Given the description of an element on the screen output the (x, y) to click on. 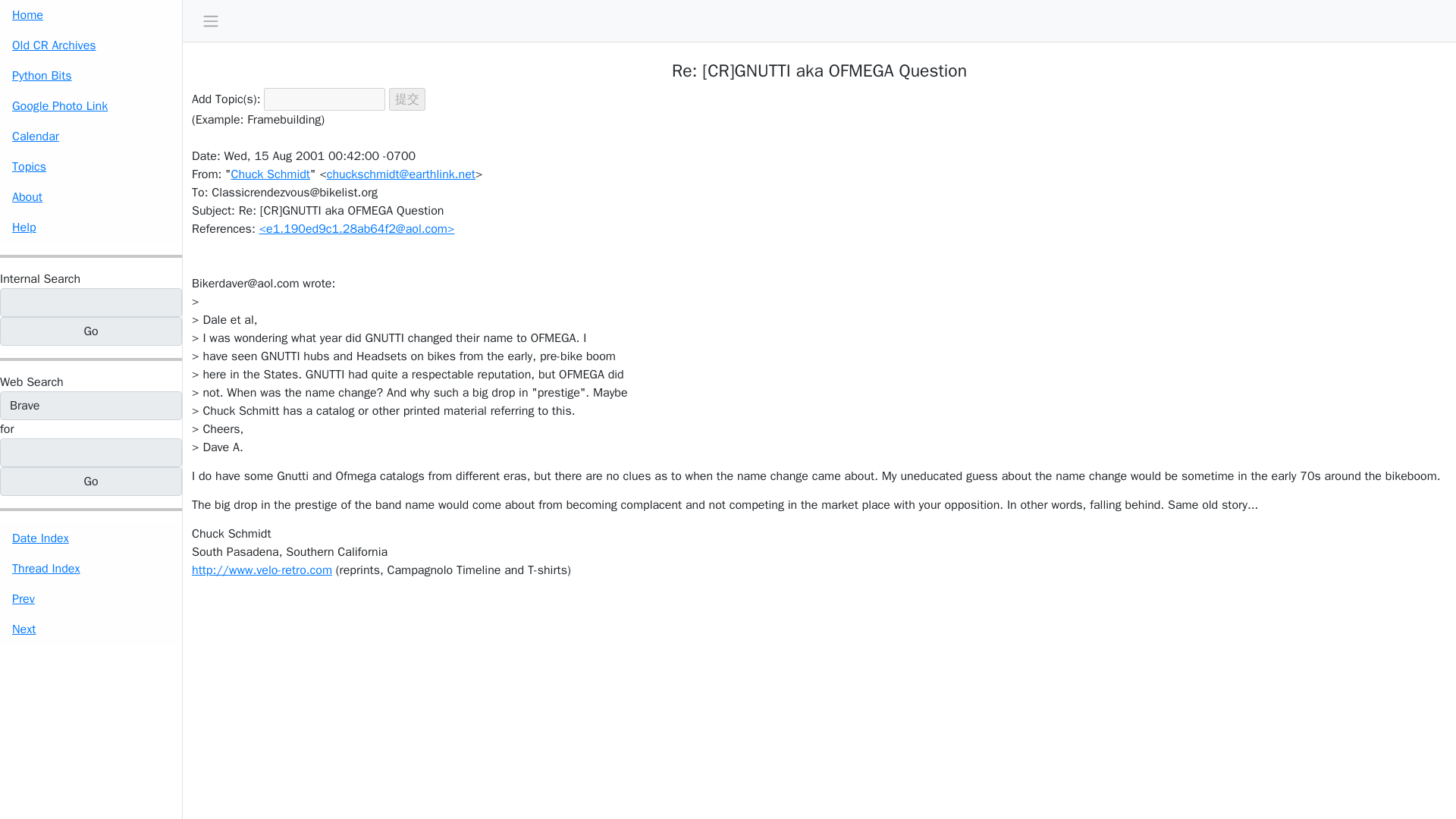
Enter a word or phrase to search the archive. (40, 279)
Python Bits (91, 75)
Date Index (91, 538)
Google Photo Link (91, 105)
Next (91, 629)
Calendar (91, 136)
Topics (91, 166)
Help (91, 227)
Go (91, 330)
Go (91, 481)
